Given the description of an element on the screen output the (x, y) to click on. 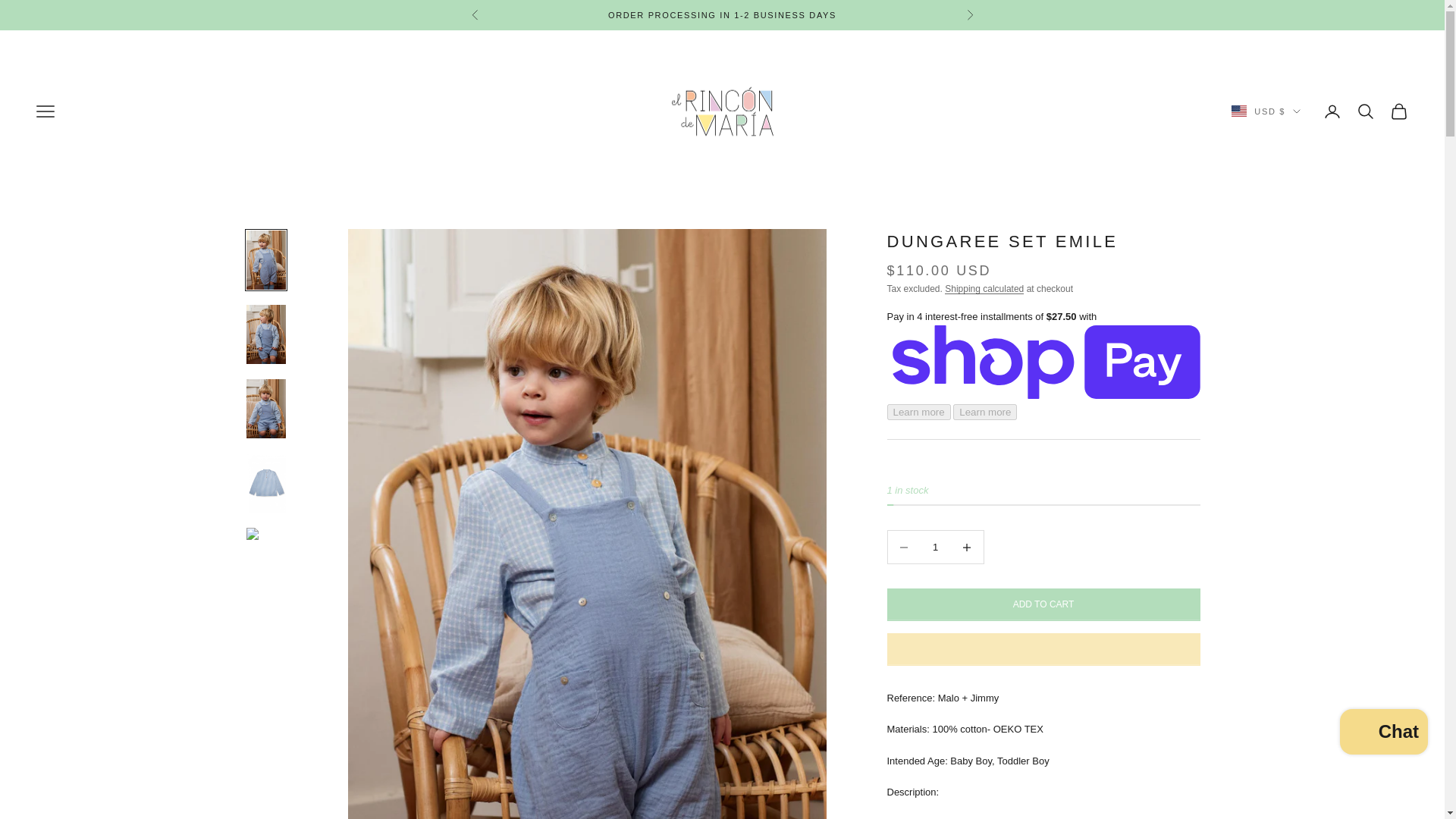
Open navigation menu (45, 111)
Shopify online store chat (1383, 733)
El Rincon de Maria (722, 111)
1 (935, 546)
